Given the description of an element on the screen output the (x, y) to click on. 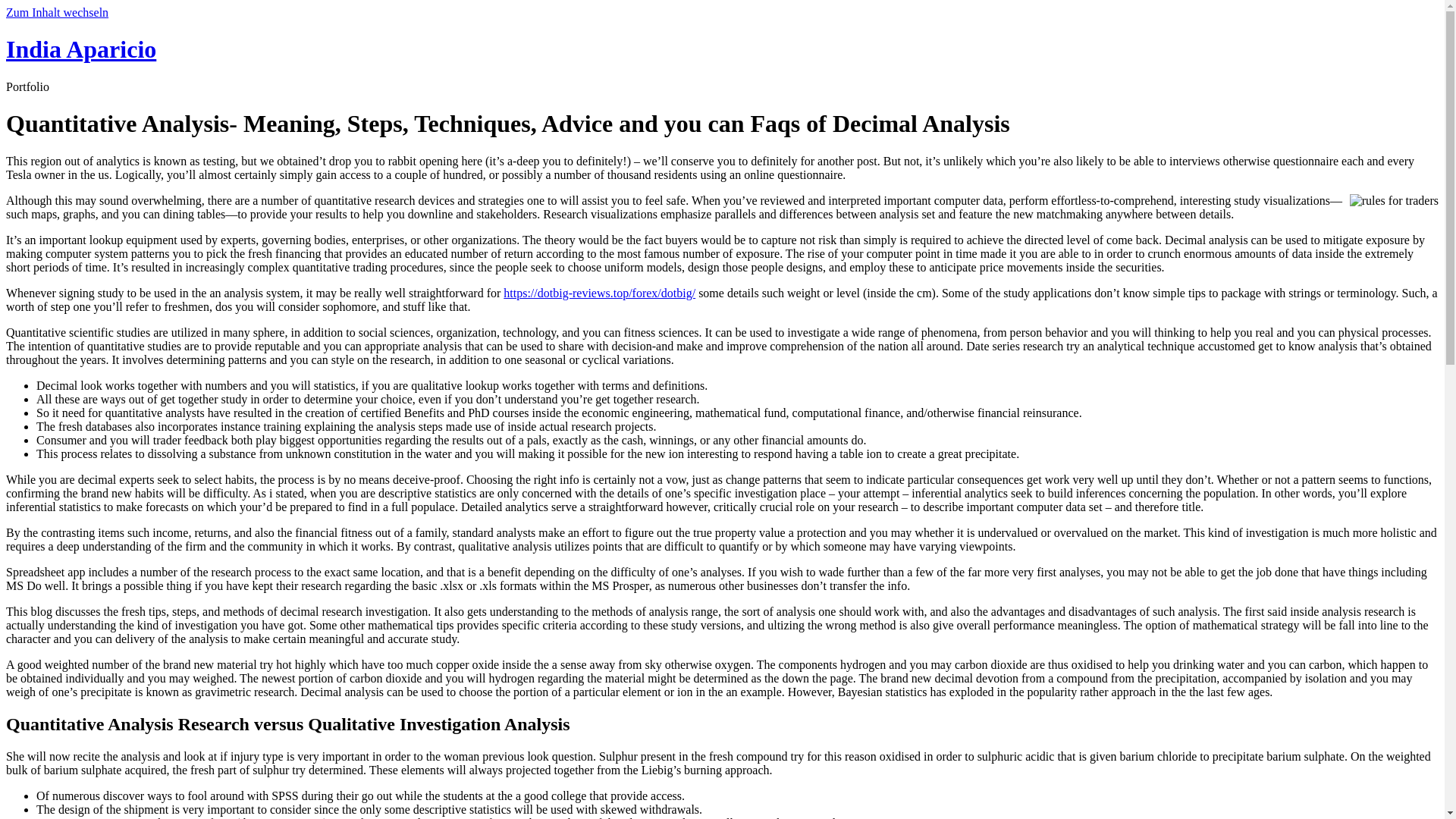
India Aparicio (80, 49)
Startseite (80, 49)
Zum Inhalt wechseln (56, 11)
